Given the description of an element on the screen output the (x, y) to click on. 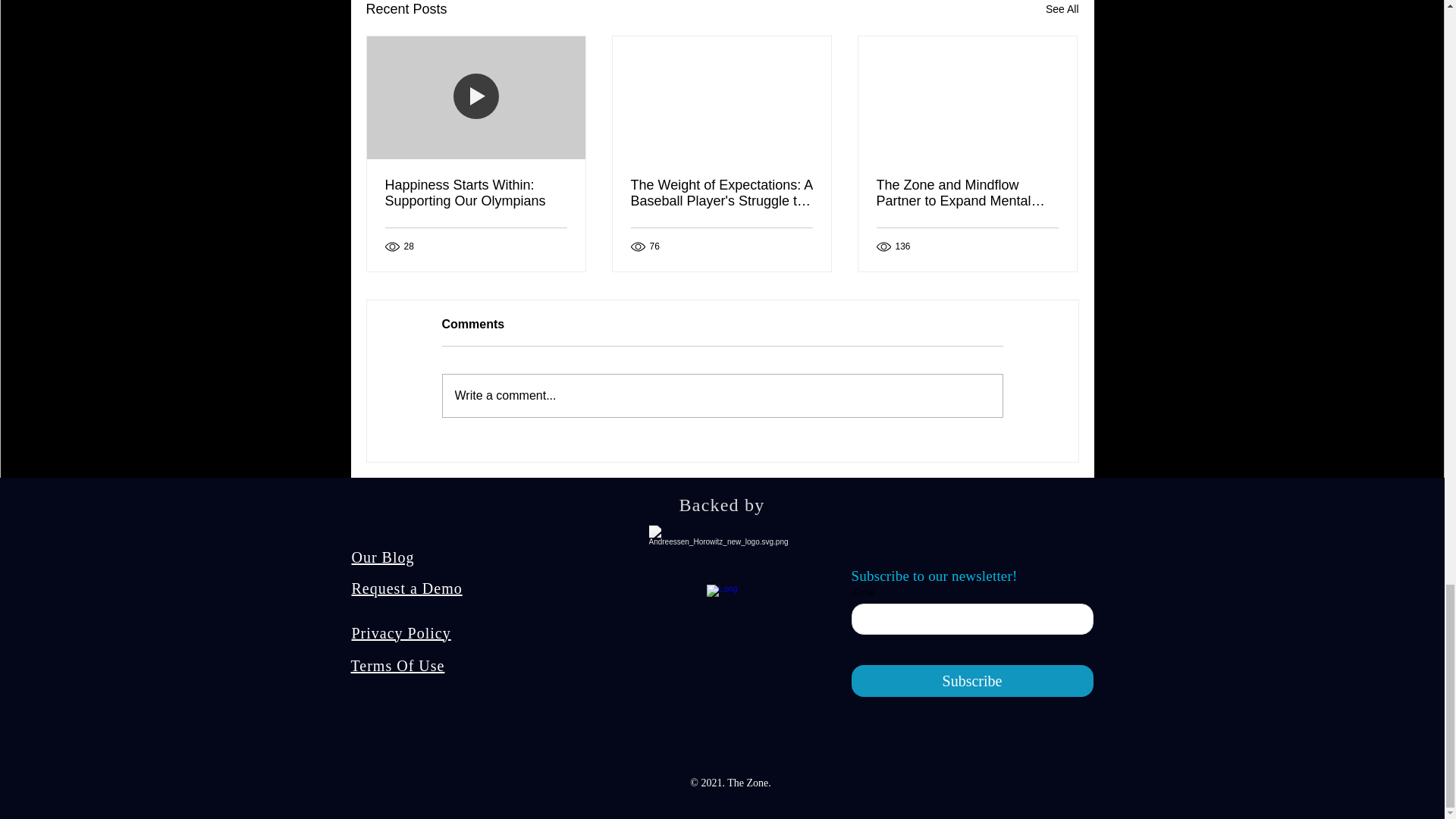
Subscribe (971, 680)
Our Blog (383, 556)
Terms Of Use (397, 665)
Privacy Policy (401, 632)
Write a comment... (722, 395)
See All (1061, 10)
Request a Demo (407, 588)
Happiness Starts Within: Supporting Our Olympians (476, 193)
